Given the description of an element on the screen output the (x, y) to click on. 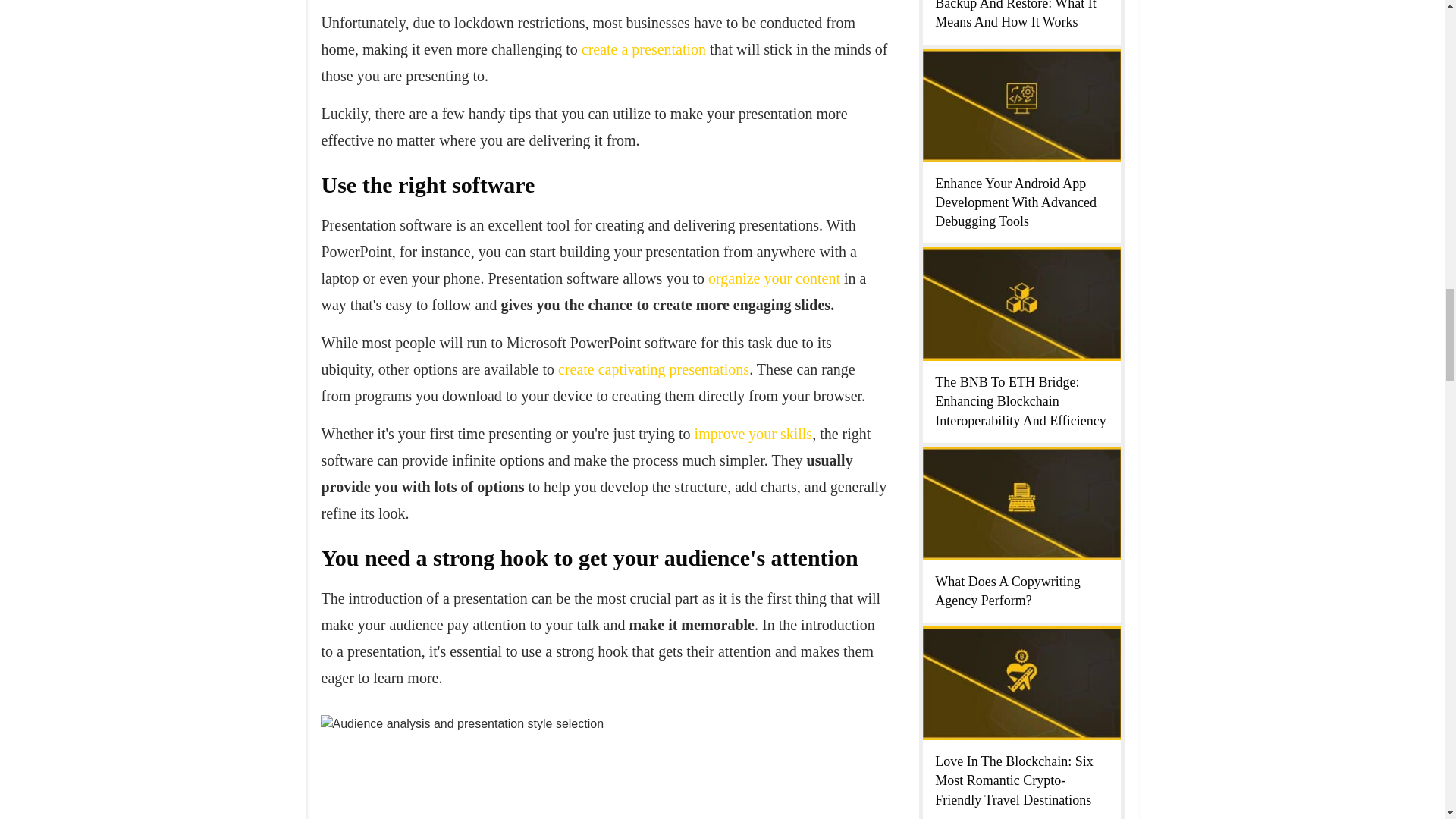
Backup And Restore: What It Means And How It Works (1015, 14)
